Given the description of an element on the screen output the (x, y) to click on. 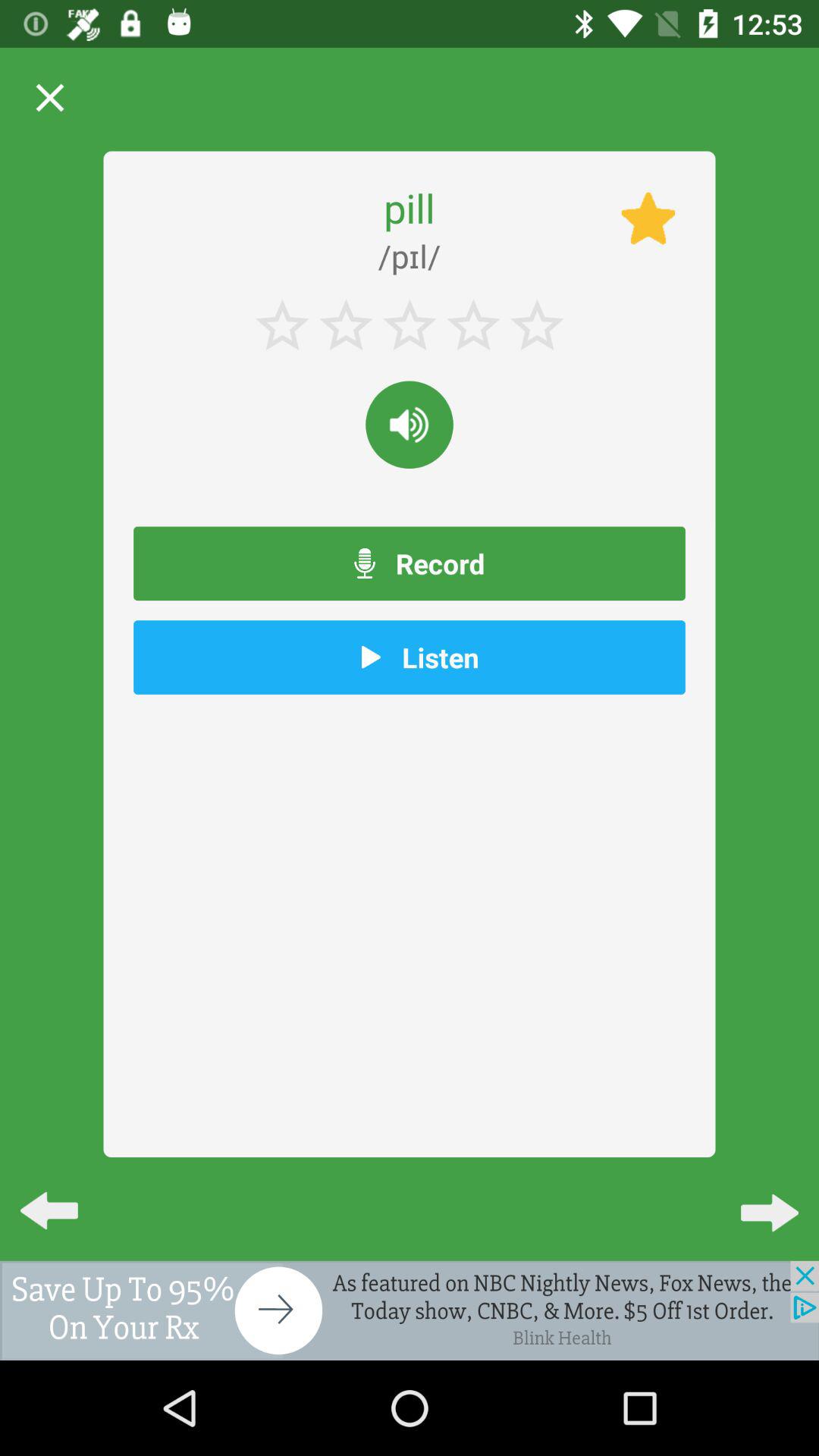
go to advertisement in order page (409, 1310)
